Given the description of an element on the screen output the (x, y) to click on. 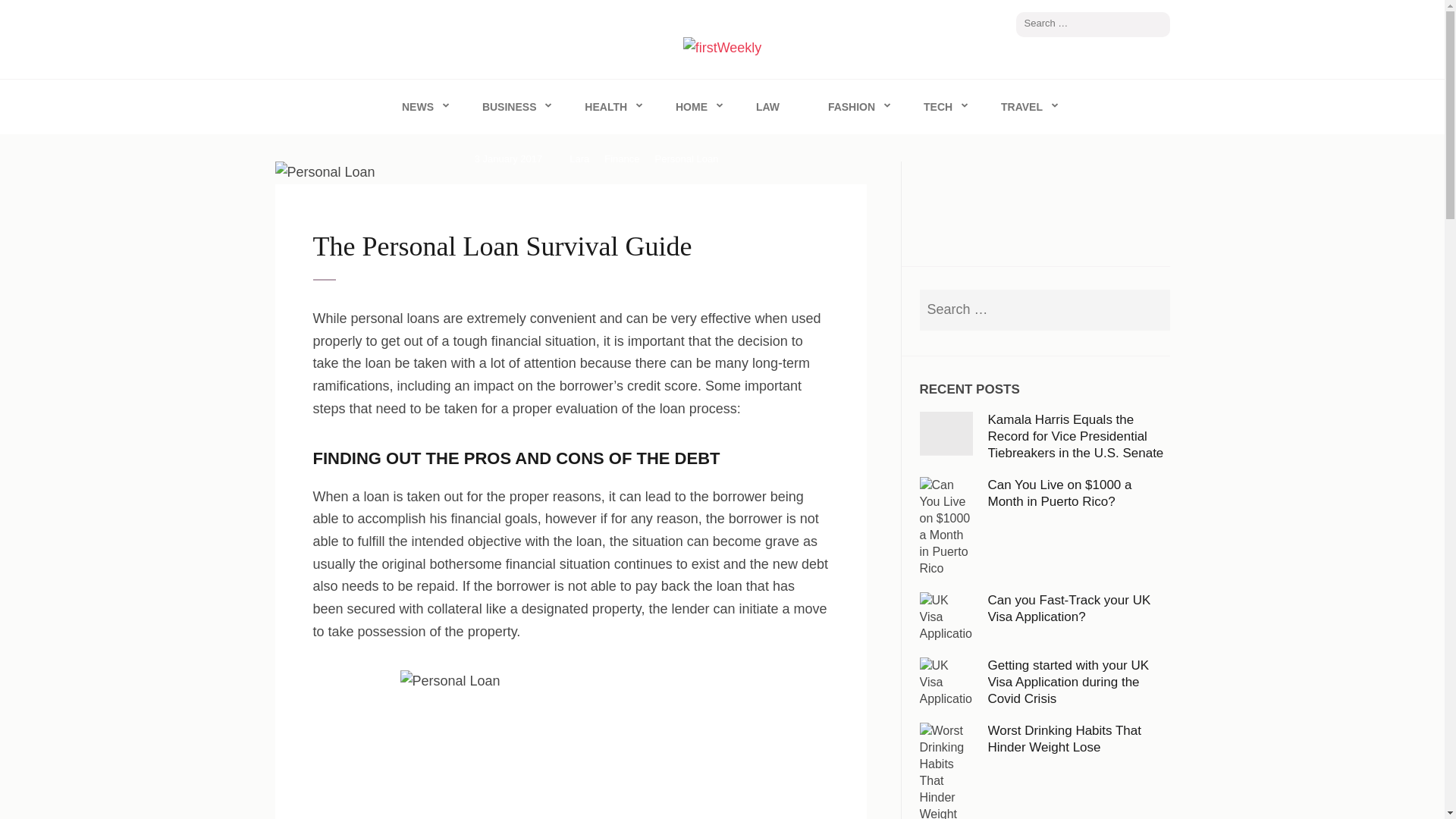
Search (1158, 24)
Search (1150, 309)
Search (1158, 24)
Search (1150, 309)
